Given the description of an element on the screen output the (x, y) to click on. 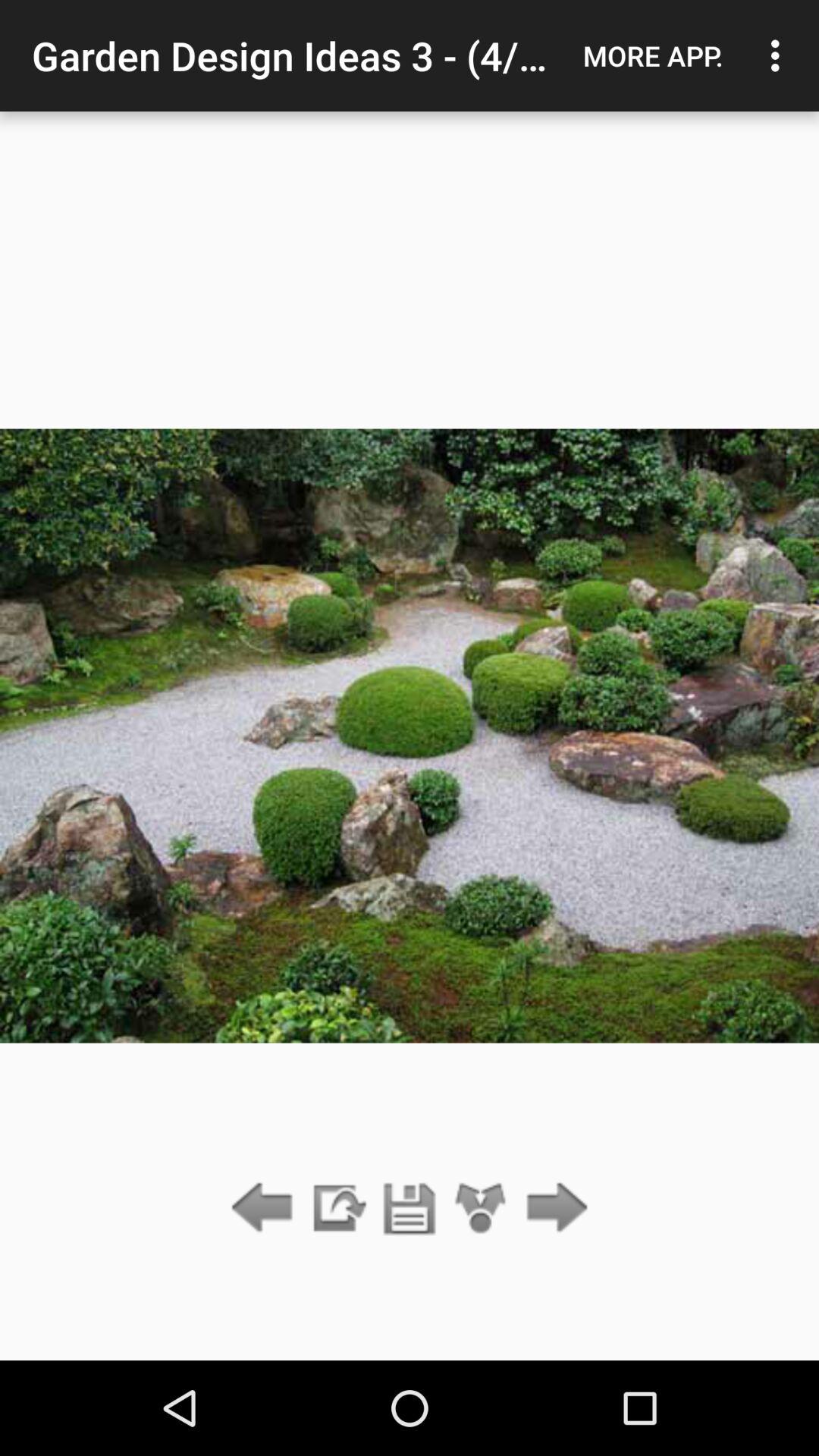
press the icon below garden design ideas item (409, 1208)
